Given the description of an element on the screen output the (x, y) to click on. 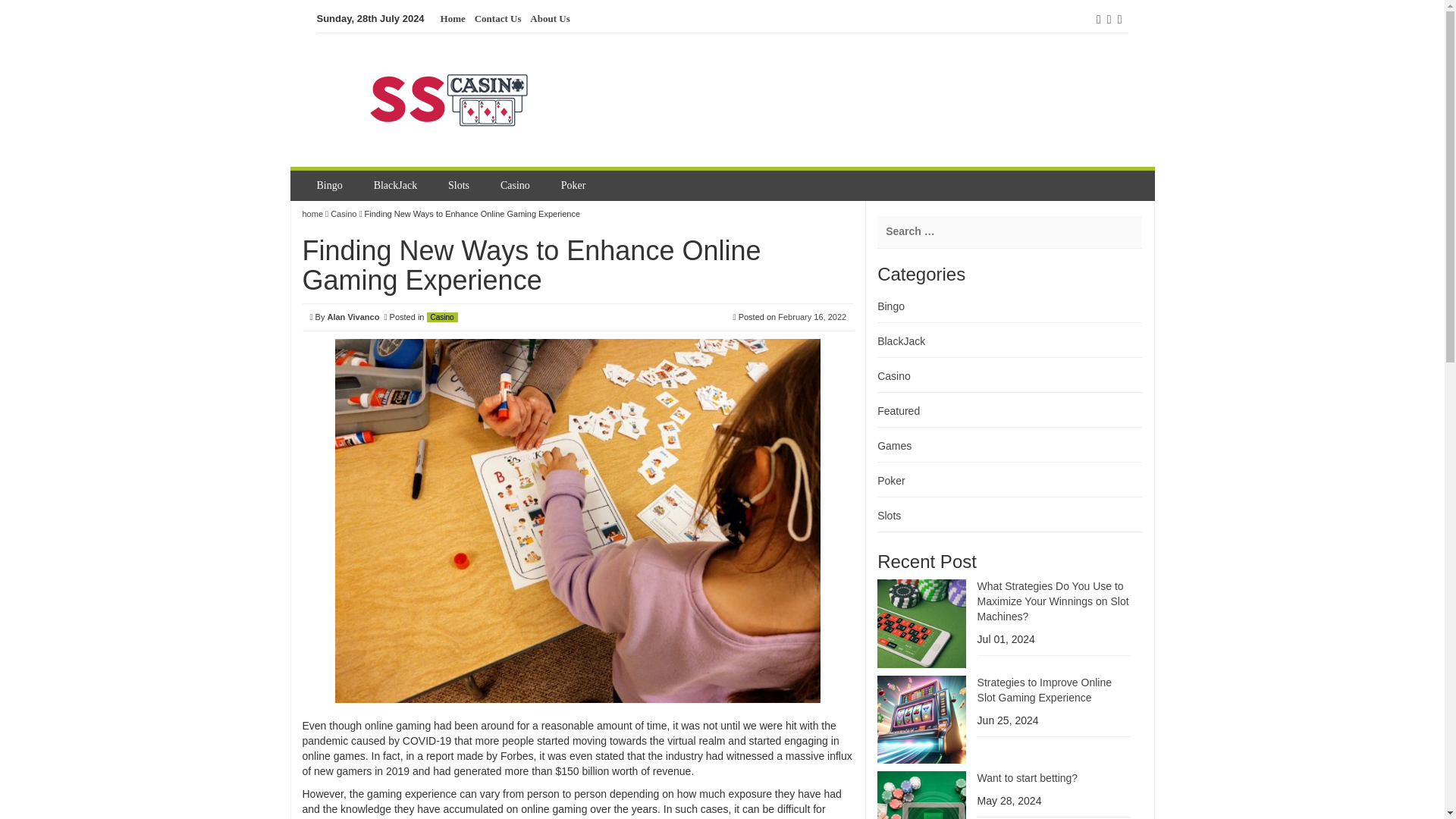
Casino (894, 376)
home (312, 213)
Featured (898, 410)
About Us (549, 19)
Poker (574, 185)
Poker (891, 480)
Casino (517, 185)
Search (22, 9)
Alan Vivanco (352, 316)
Casino (442, 317)
Bingo (890, 306)
Bingo (330, 185)
Home (453, 19)
Slots (460, 185)
